Given the description of an element on the screen output the (x, y) to click on. 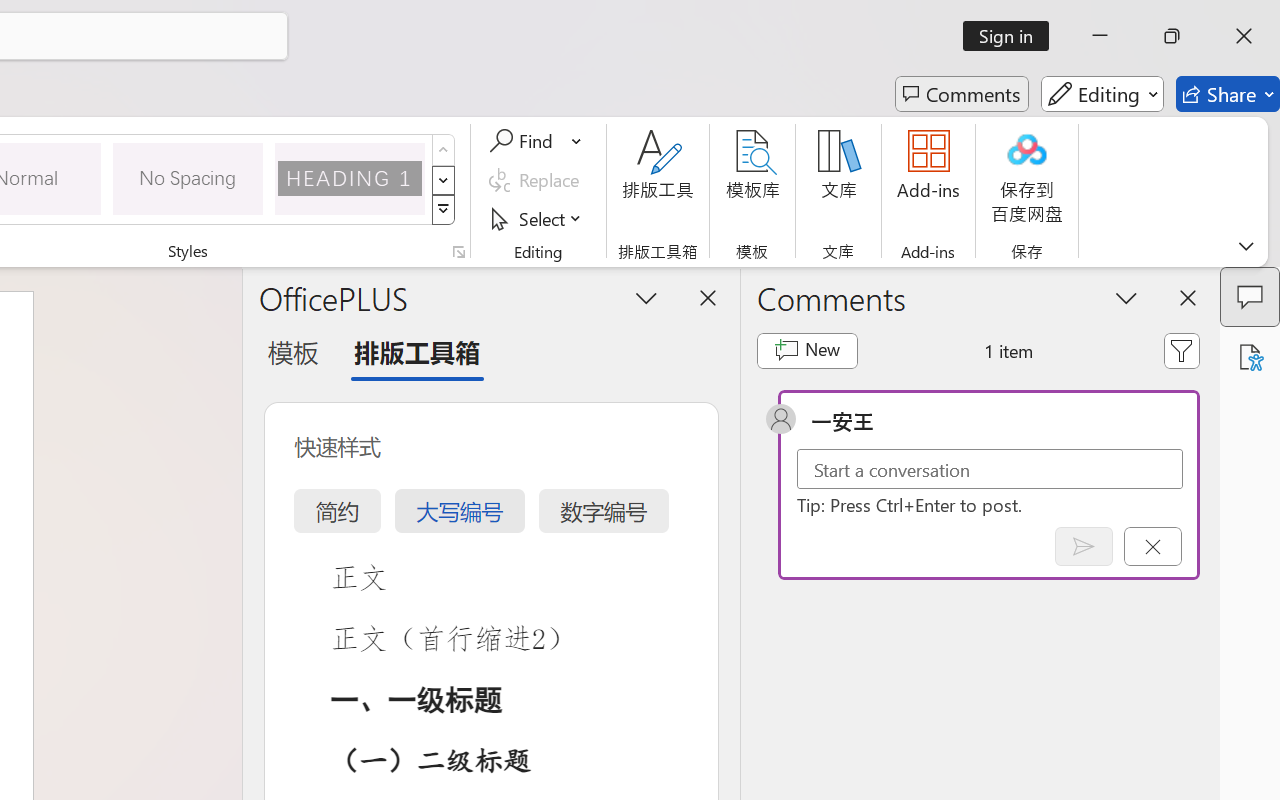
Post comment (Ctrl + Enter) (1083, 546)
